Given the description of an element on the screen output the (x, y) to click on. 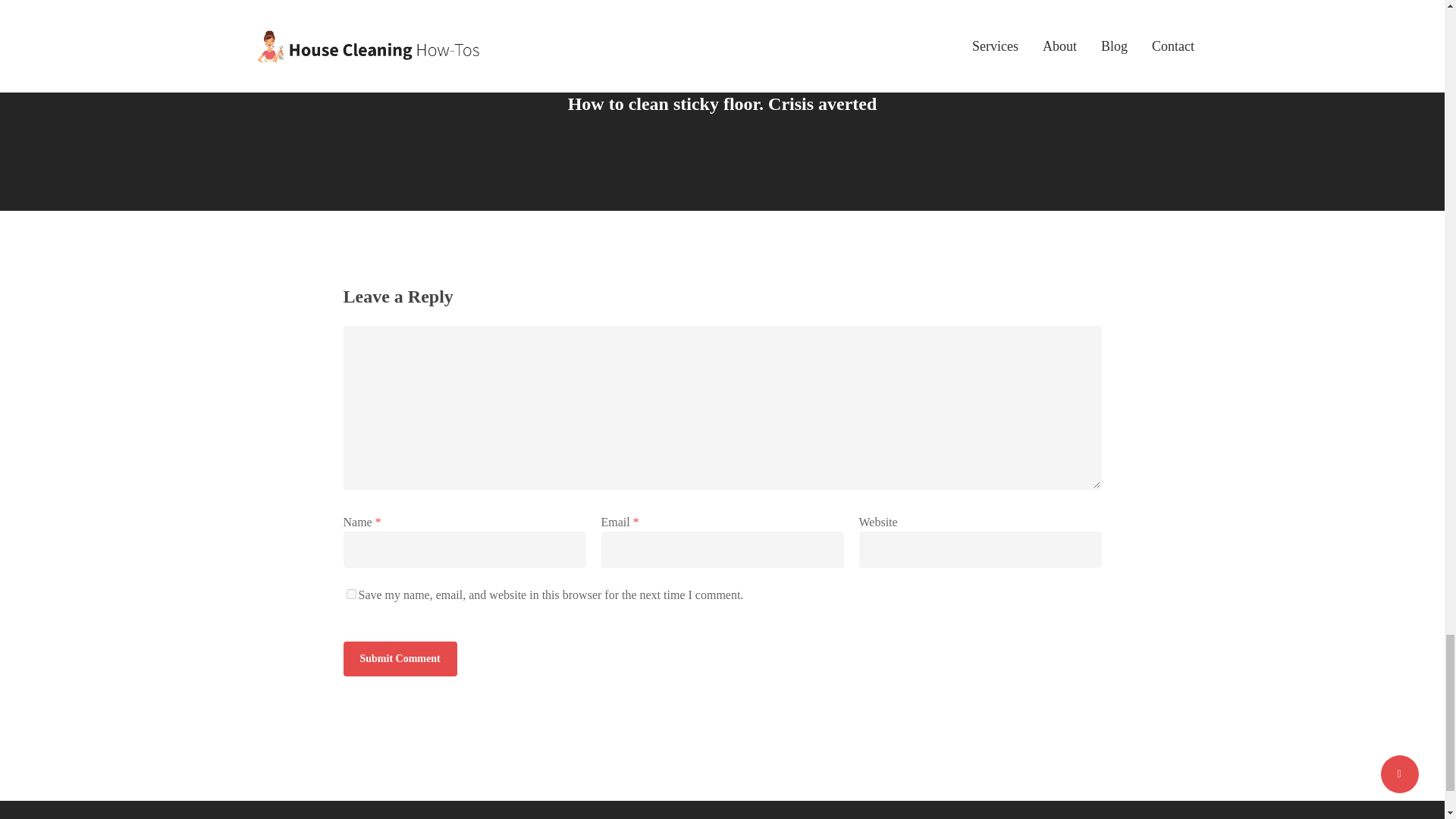
yes (350, 593)
Submit Comment (399, 658)
Submit Comment (399, 658)
